Given the description of an element on the screen output the (x, y) to click on. 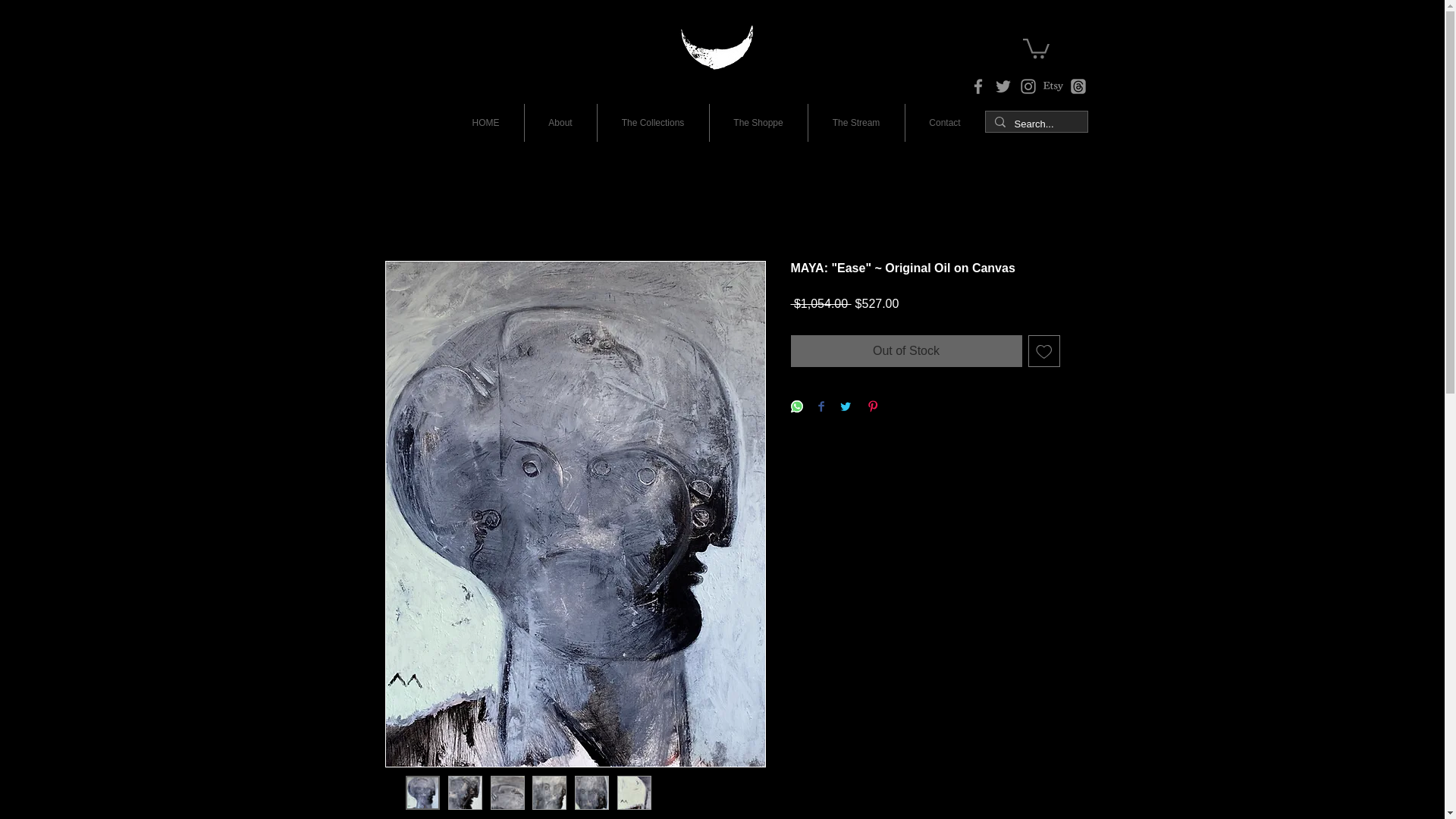
The Collections (652, 122)
The Shoppe (759, 122)
Contact (945, 122)
The Stream (856, 122)
HOME (484, 122)
About (560, 122)
Out of Stock (906, 350)
